Given the description of an element on the screen output the (x, y) to click on. 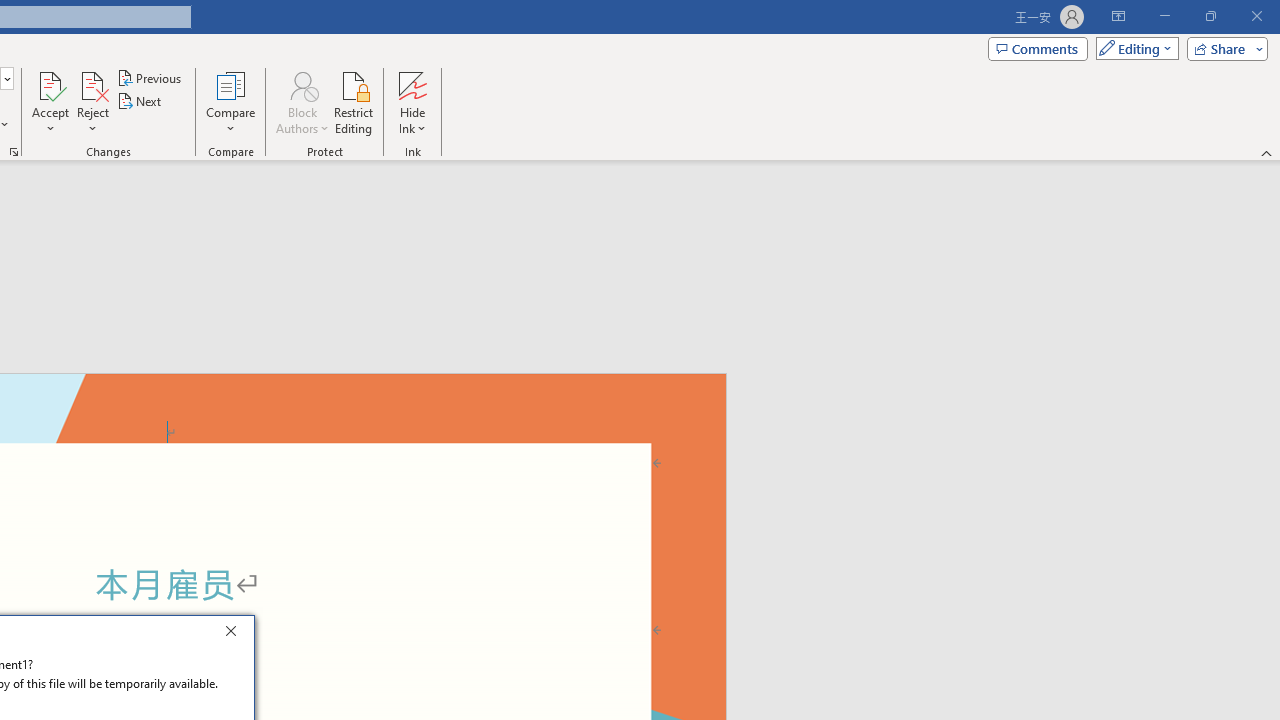
Restrict Editing (353, 102)
Accept and Move to Next (50, 84)
Compare (230, 102)
Reject and Move to Next (92, 84)
Collapse the Ribbon (1267, 152)
Next (140, 101)
Hide Ink (412, 102)
Hide Ink (412, 84)
Open (6, 78)
Mode (1133, 47)
Change Tracking Options... (13, 151)
Share (1223, 48)
